Given the description of an element on the screen output the (x, y) to click on. 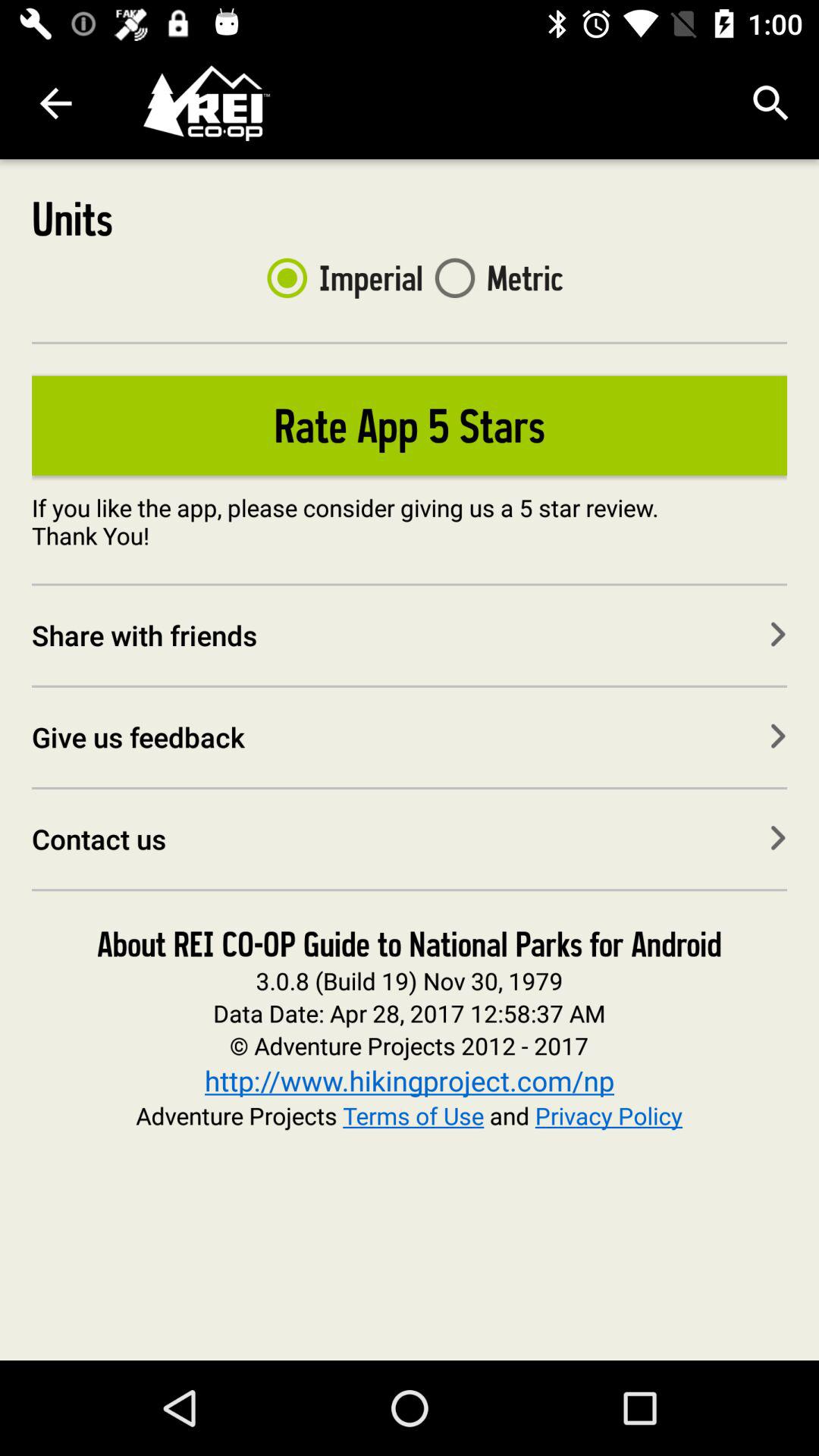
press the icon above units (55, 103)
